Given the description of an element on the screen output the (x, y) to click on. 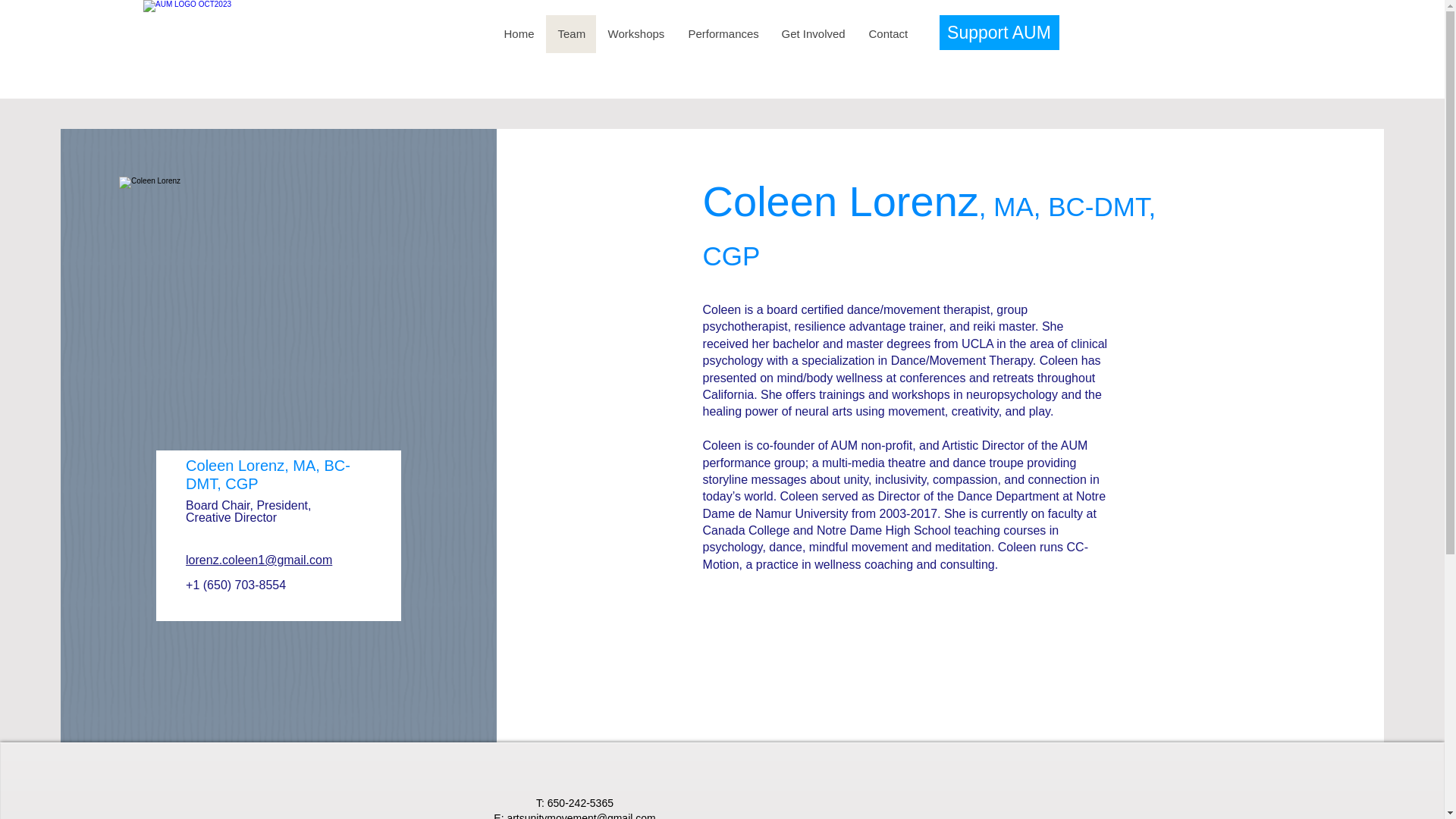
Get Involved (812, 34)
Team (570, 34)
Support AUM (998, 32)
Workshops (636, 34)
Home (519, 34)
Contact (887, 34)
Performances (723, 34)
